Given the description of an element on the screen output the (x, y) to click on. 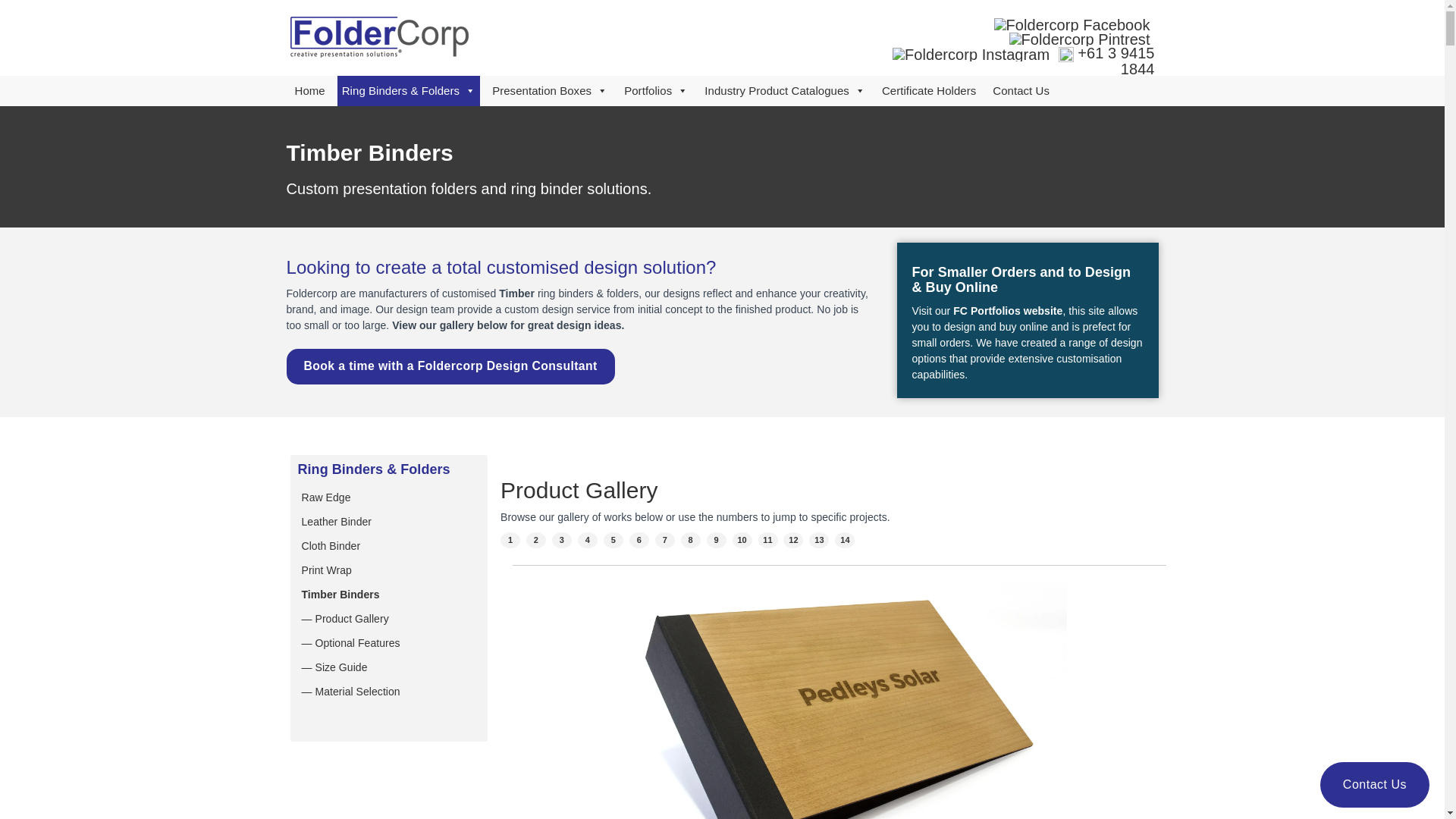
8 Element type: text (690, 540)
Foldercorp Element type: hover (378, 36)
Certificate Holders Element type: text (928, 90)
FC Portfolios website Element type: text (1007, 310)
13 Element type: text (818, 540)
6 Element type: text (639, 540)
Book a time with a Foldercorp Design Consultant Element type: text (450, 366)
2 Element type: text (536, 540)
Industry Product Catalogues Element type: text (784, 90)
9 Element type: text (716, 540)
Cloth Binder Element type: text (387, 545)
Contact Us Element type: text (1021, 90)
Contact Us Element type: text (1374, 784)
12 Element type: text (793, 540)
7 Element type: text (664, 540)
11 Element type: text (768, 540)
Ring Binders & Folders Element type: text (408, 90)
10 Element type: text (742, 540)
4 Element type: text (587, 540)
Presentation Boxes Element type: text (549, 90)
Home Element type: text (309, 90)
Timber Binders Element type: text (387, 594)
Portfolios Element type: text (655, 90)
+61 3 9415 1844 Element type: text (1115, 60)
Print Wrap Element type: text (387, 570)
14 Element type: text (844, 540)
Leather Binder Element type: text (387, 521)
3 Element type: text (561, 540)
Raw Edge Element type: text (387, 497)
5 Element type: text (613, 540)
1 Element type: text (510, 540)
